Given the description of an element on the screen output the (x, y) to click on. 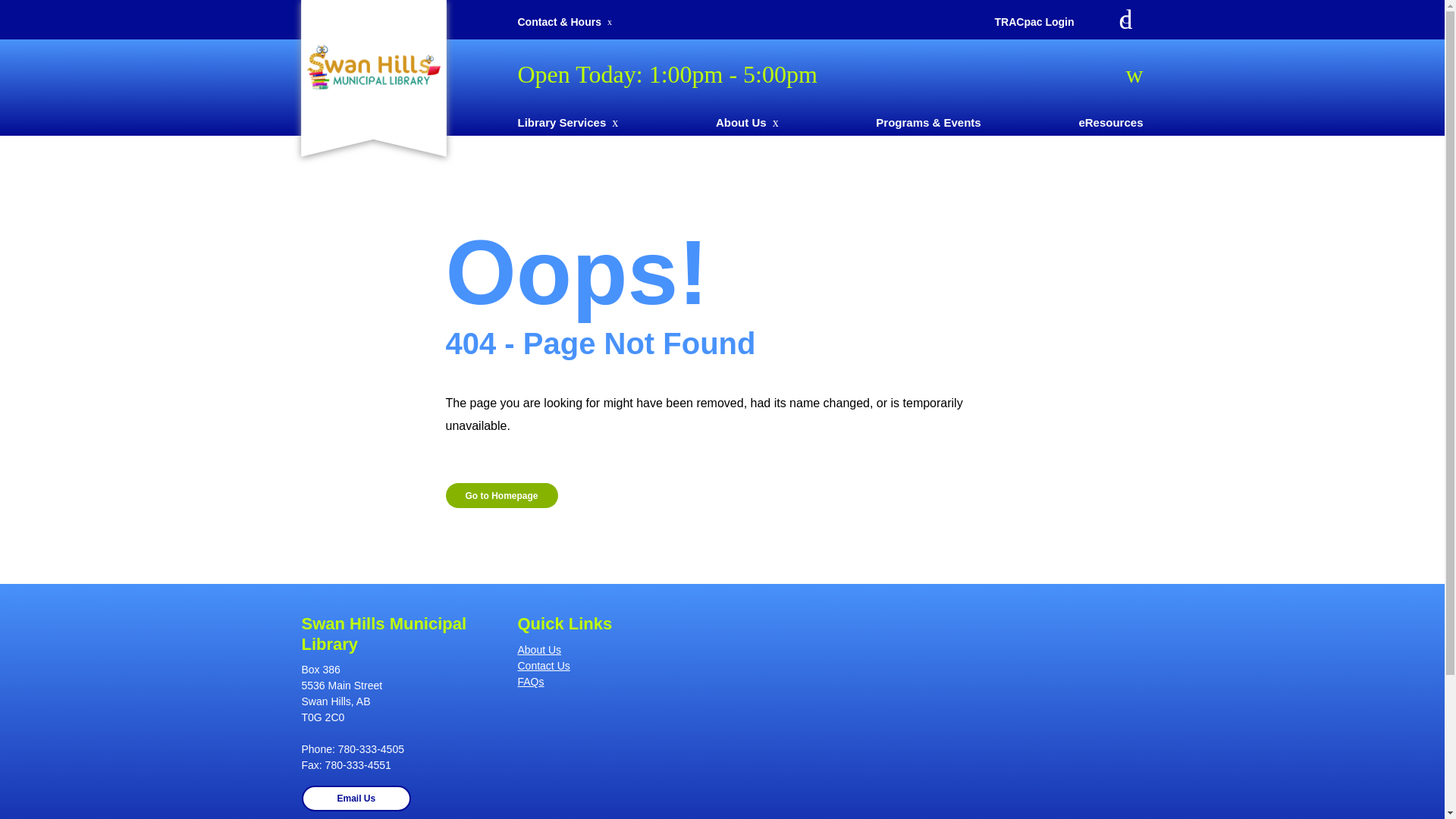
About Us Element type: text (613, 650)
Contact Us Element type: text (613, 666)
FAQs Element type: text (613, 682)
Facebook Element type: hover (1125, 19)
Email Us Element type: text (356, 798)
Programs & Events Element type: text (927, 122)
eResources Element type: text (1110, 122)
About Us Element type: text (746, 122)
Swan Hills Municipal Library Element type: hover (372, 70)
Contact & Hours Element type: text (558, 21)
Go to Homepage Element type: text (501, 495)
TRACpac Login Element type: text (1034, 21)
Library Services Element type: text (567, 122)
